Given the description of an element on the screen output the (x, y) to click on. 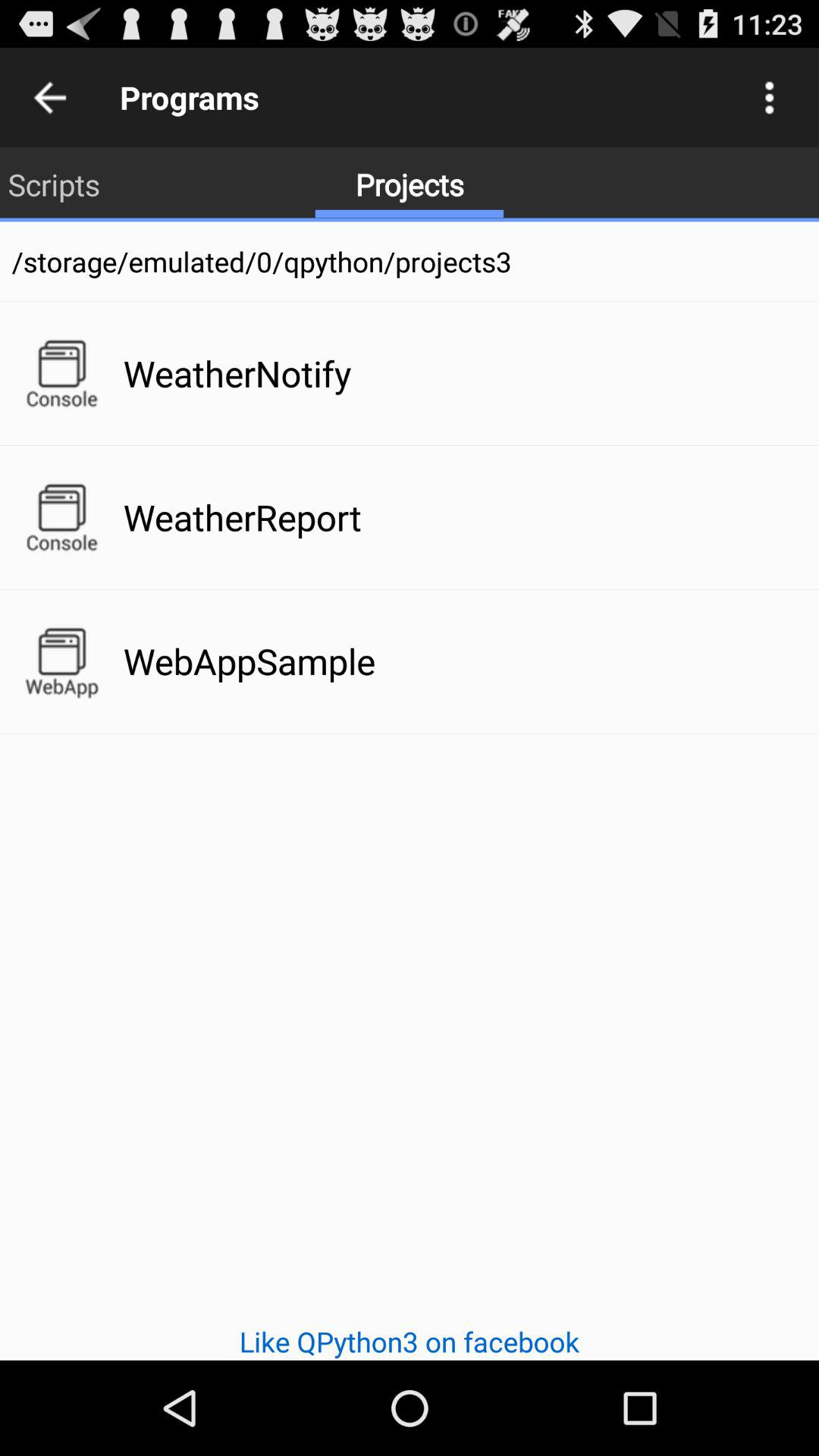
more details (769, 97)
